Given the description of an element on the screen output the (x, y) to click on. 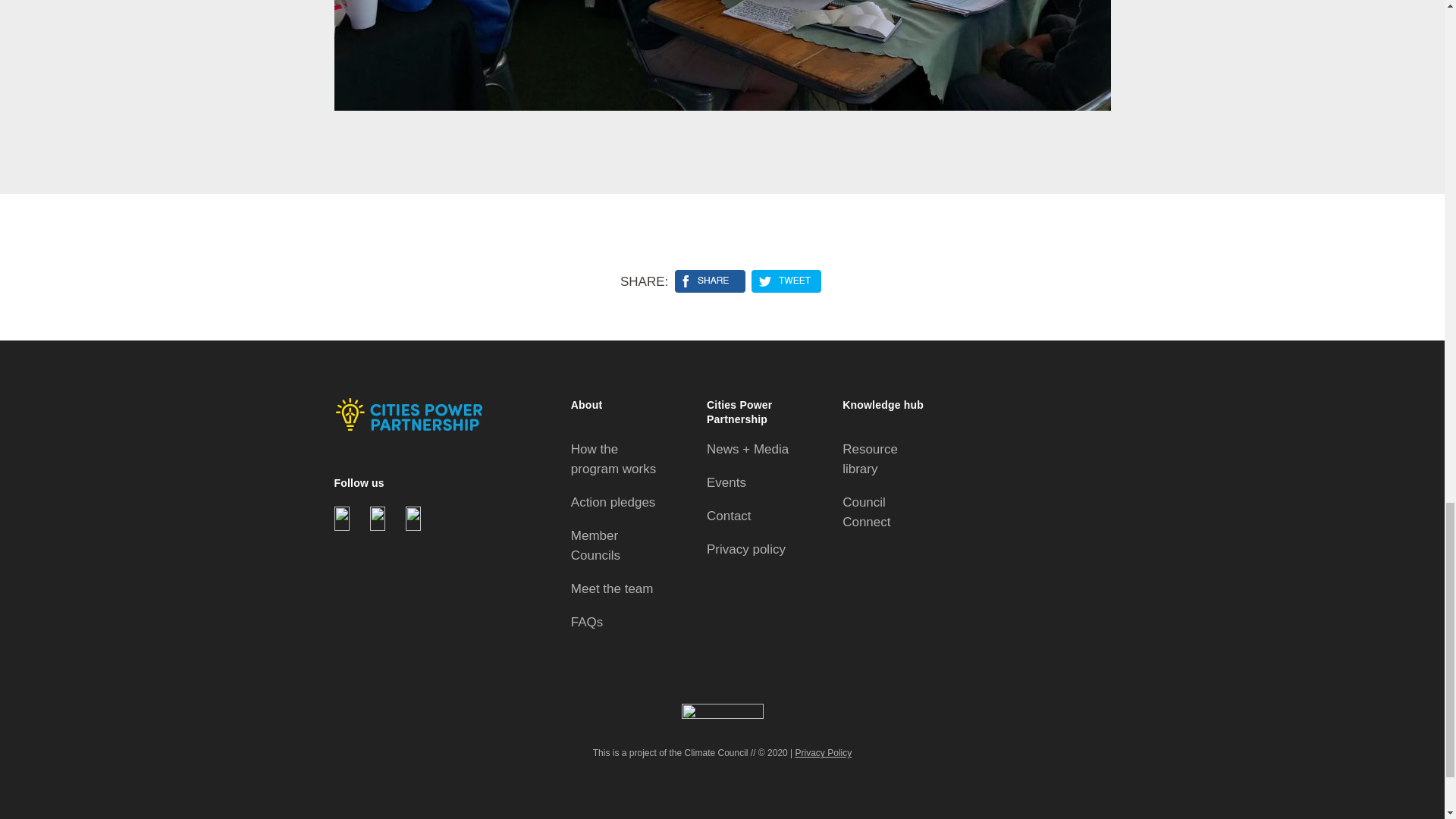
How the program works (613, 458)
Privacy policy (746, 549)
Contact (728, 515)
Cities-Power-Partnership (407, 414)
Member Councils (595, 545)
Council Connect (866, 512)
Privacy policy (746, 549)
Contact (728, 515)
Events (725, 482)
Action pledges (613, 502)
